Given the description of an element on the screen output the (x, y) to click on. 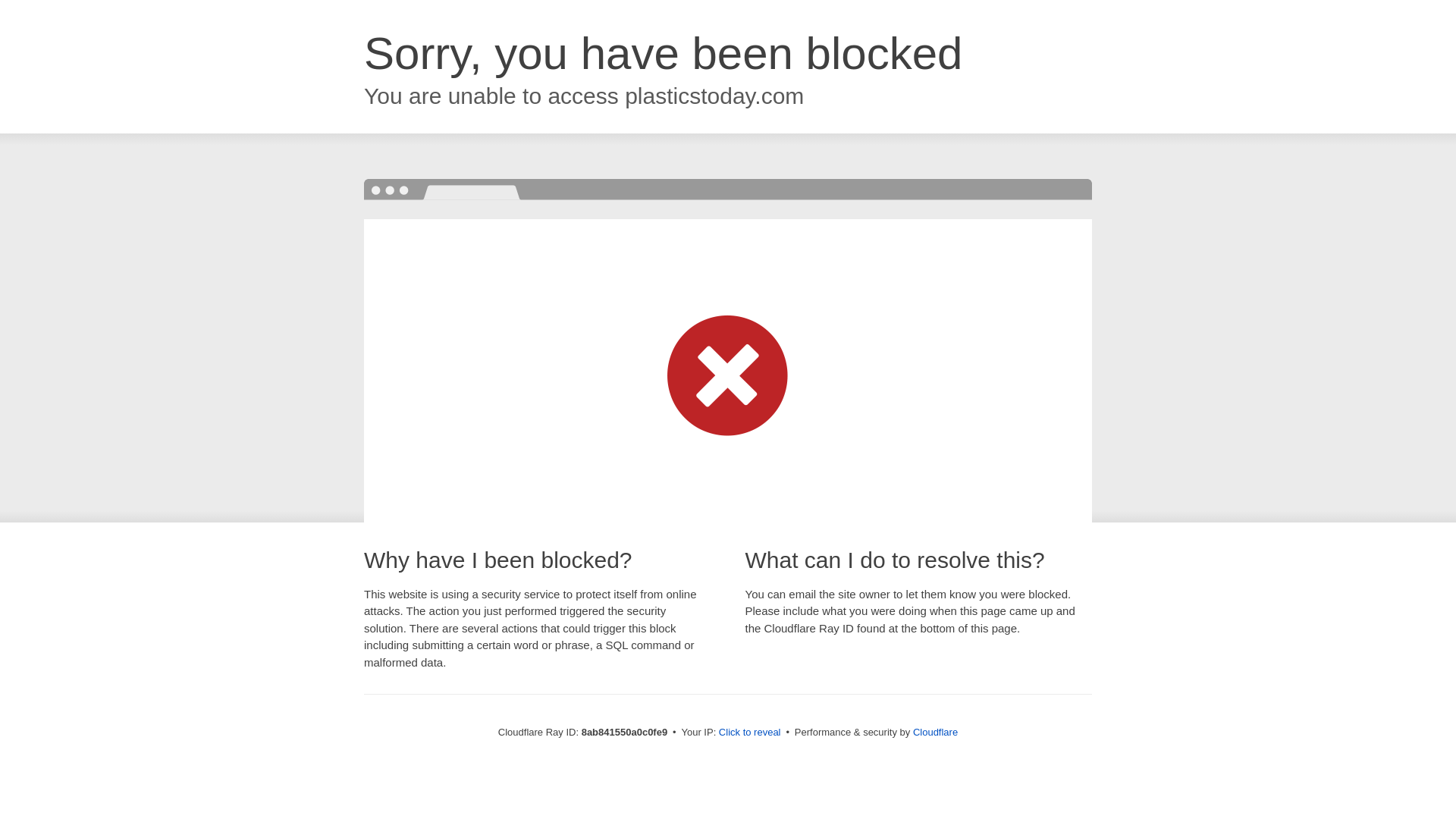
Cloudflare (935, 731)
Click to reveal (749, 732)
